Given the description of an element on the screen output the (x, y) to click on. 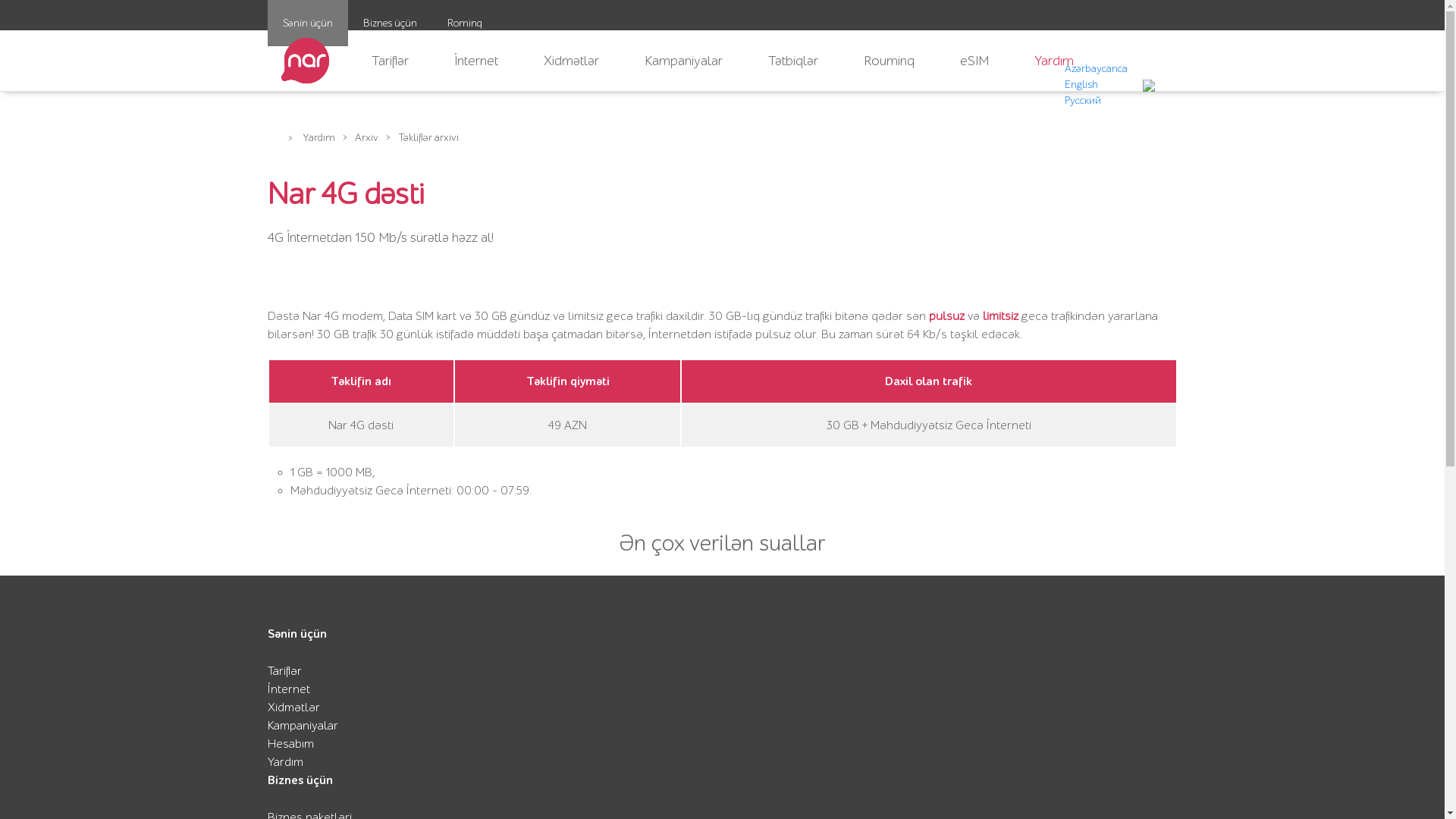
Rouminq Element type: text (888, 61)
Kampaniyalar Element type: text (301, 725)
eSIM Element type: text (974, 61)
Rominq Element type: text (464, 23)
Arxiv Element type: text (366, 137)
AZ Element type: text (1030, 84)
English Element type: text (1081, 84)
Kampaniyalar Element type: text (683, 61)
